Given the description of an element on the screen output the (x, y) to click on. 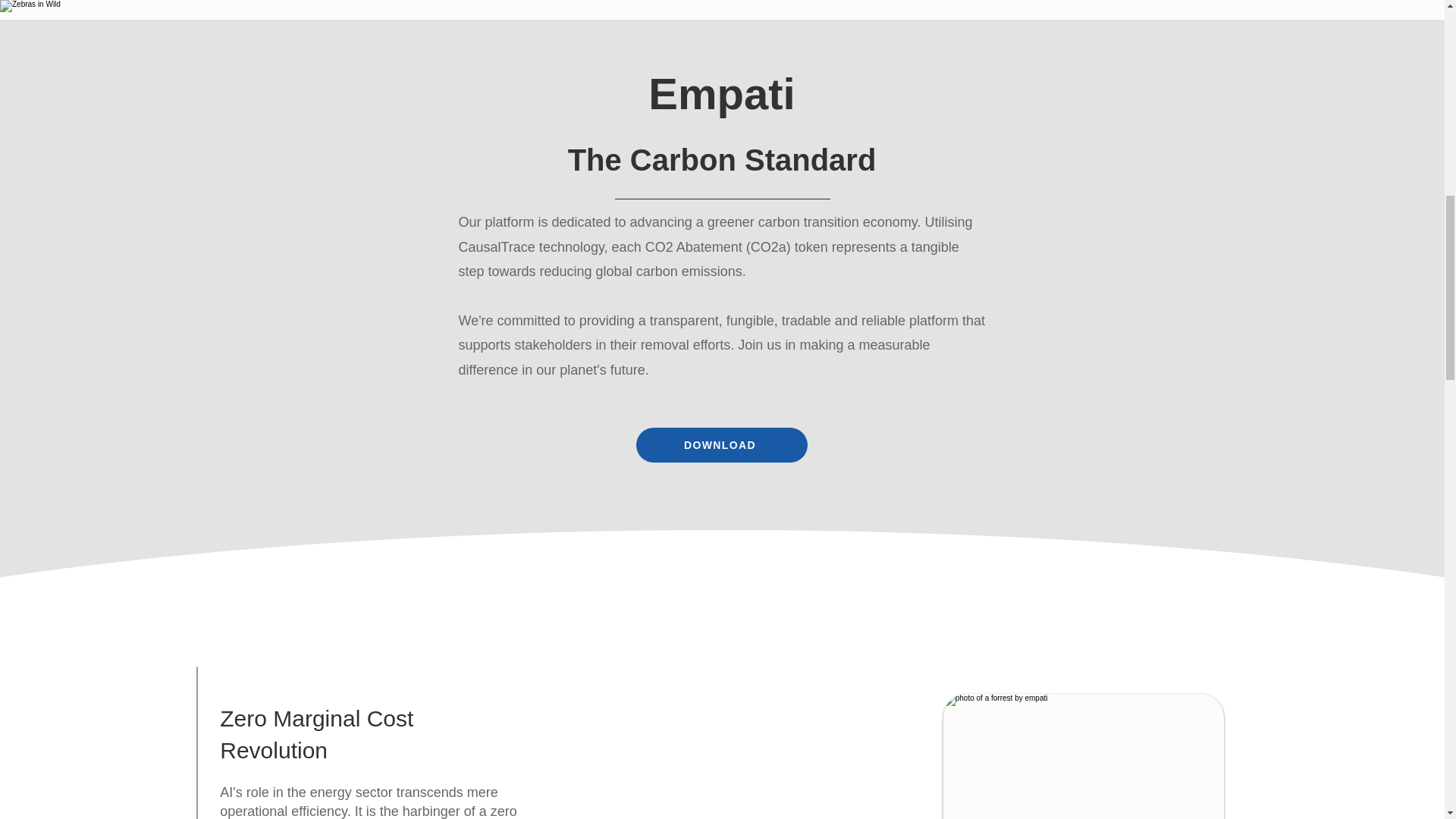
DOWNLOAD (720, 444)
